Given the description of an element on the screen output the (x, y) to click on. 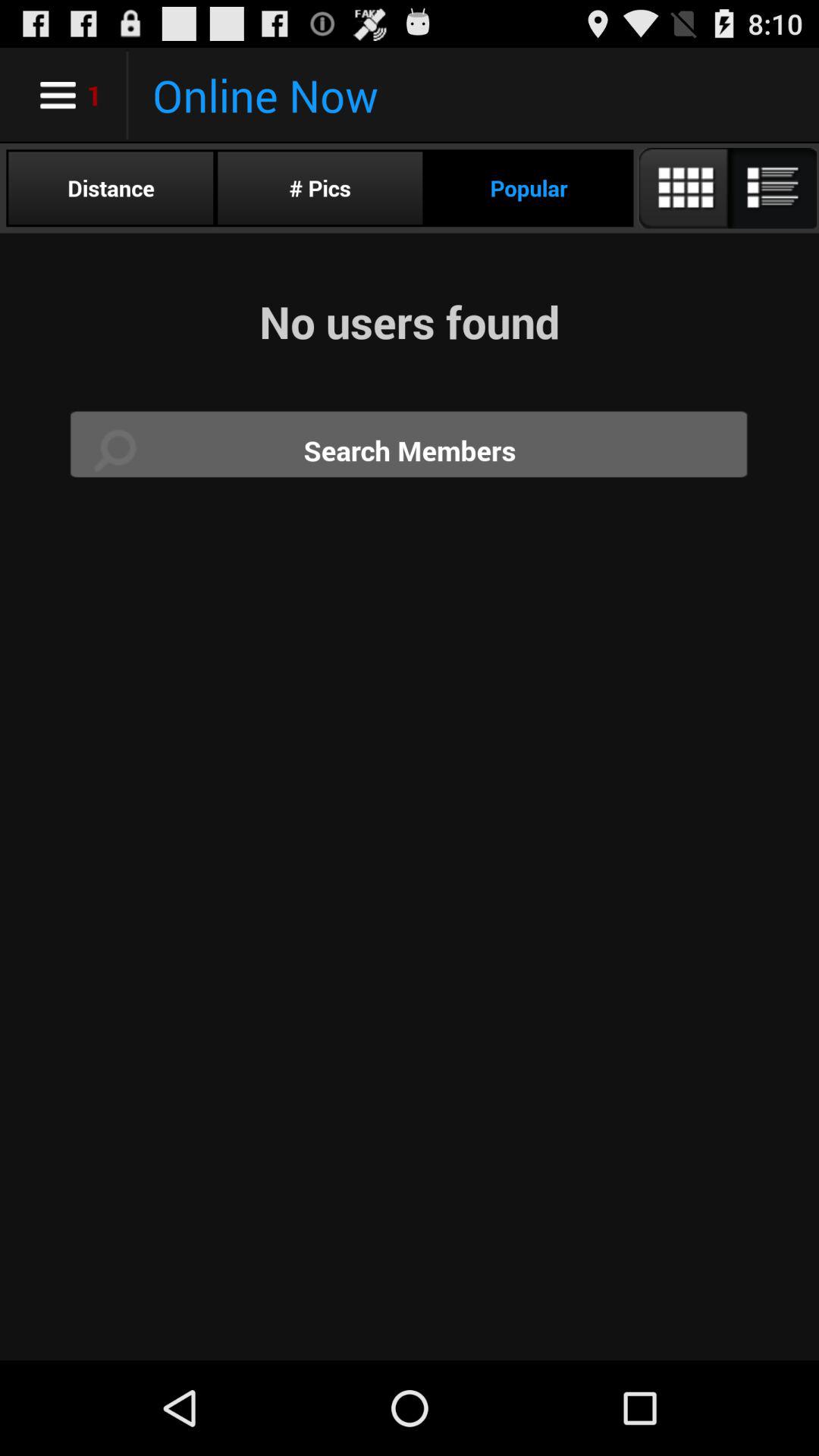
press the icon at the top right corner (726, 187)
